Given the description of an element on the screen output the (x, y) to click on. 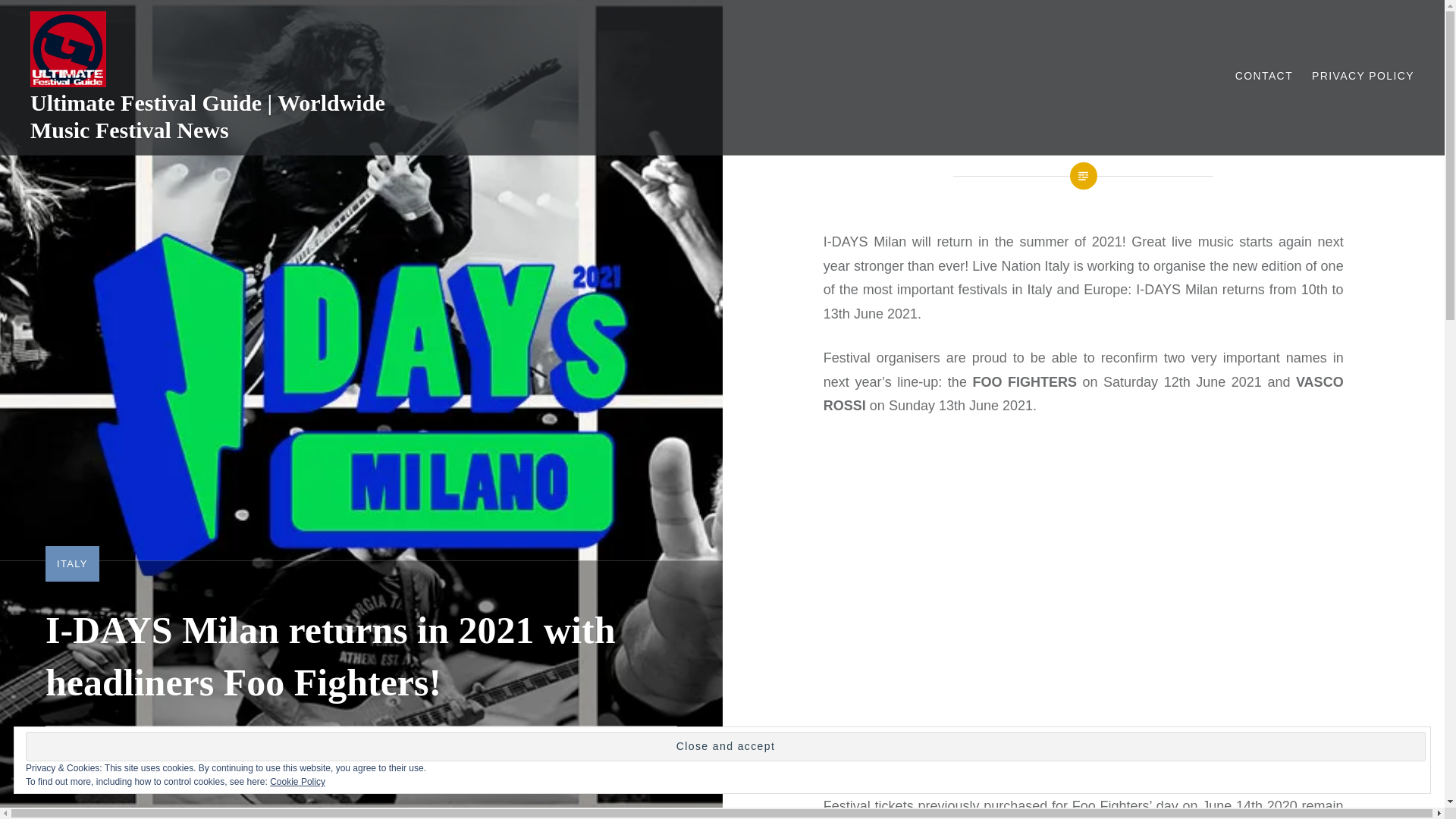
Close and accept (725, 746)
ANDY (117, 752)
PRIVACY POLICY (1362, 76)
Cookie Policy (296, 781)
CONTACT (1263, 76)
ITALY (71, 563)
Close and accept (725, 746)
MAY 29, 2020 (197, 752)
